Given the description of an element on the screen output the (x, y) to click on. 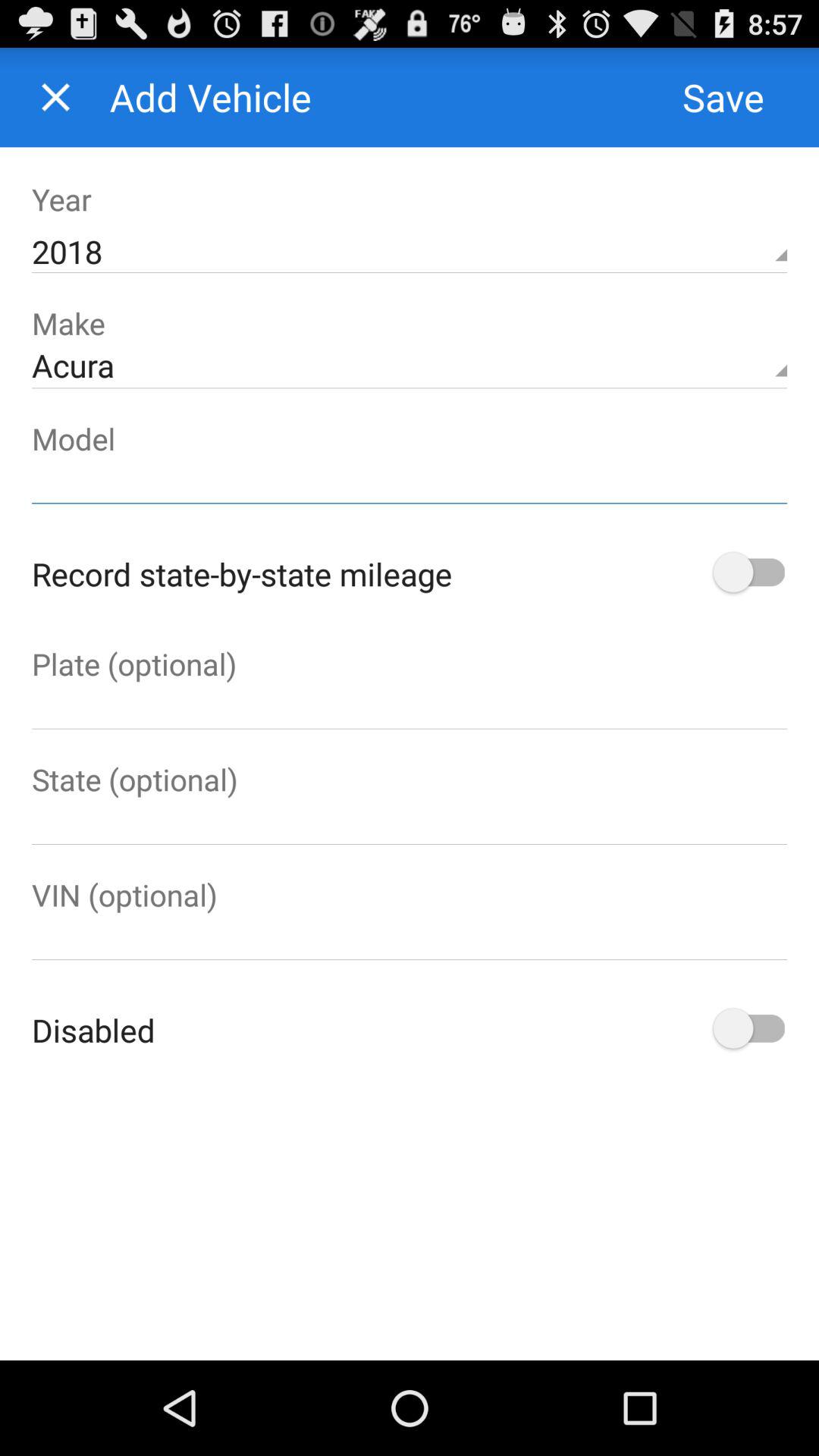
toggle record state-by-state mileage (747, 573)
